Given the description of an element on the screen output the (x, y) to click on. 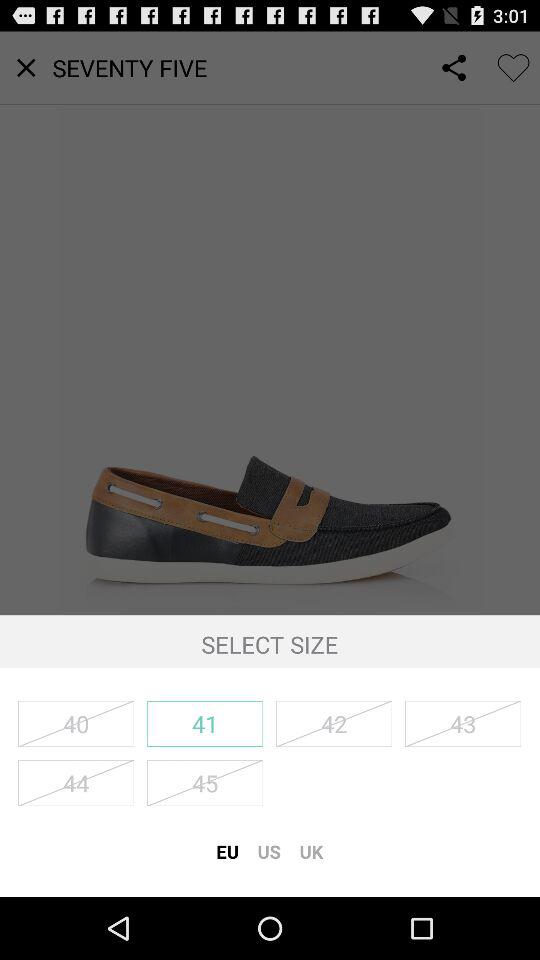
flip to eu item (227, 851)
